Given the description of an element on the screen output the (x, y) to click on. 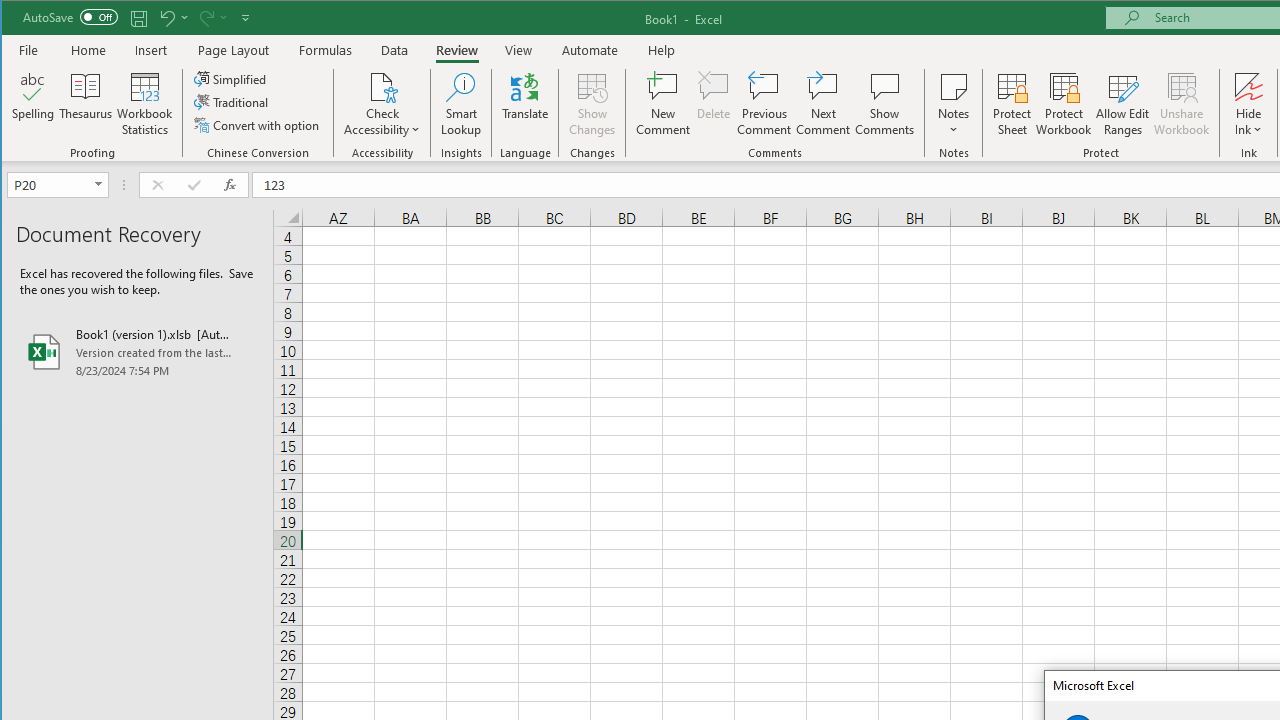
Protect Workbook... (1064, 104)
Allow Edit Ranges (1123, 104)
